Given the description of an element on the screen output the (x, y) to click on. 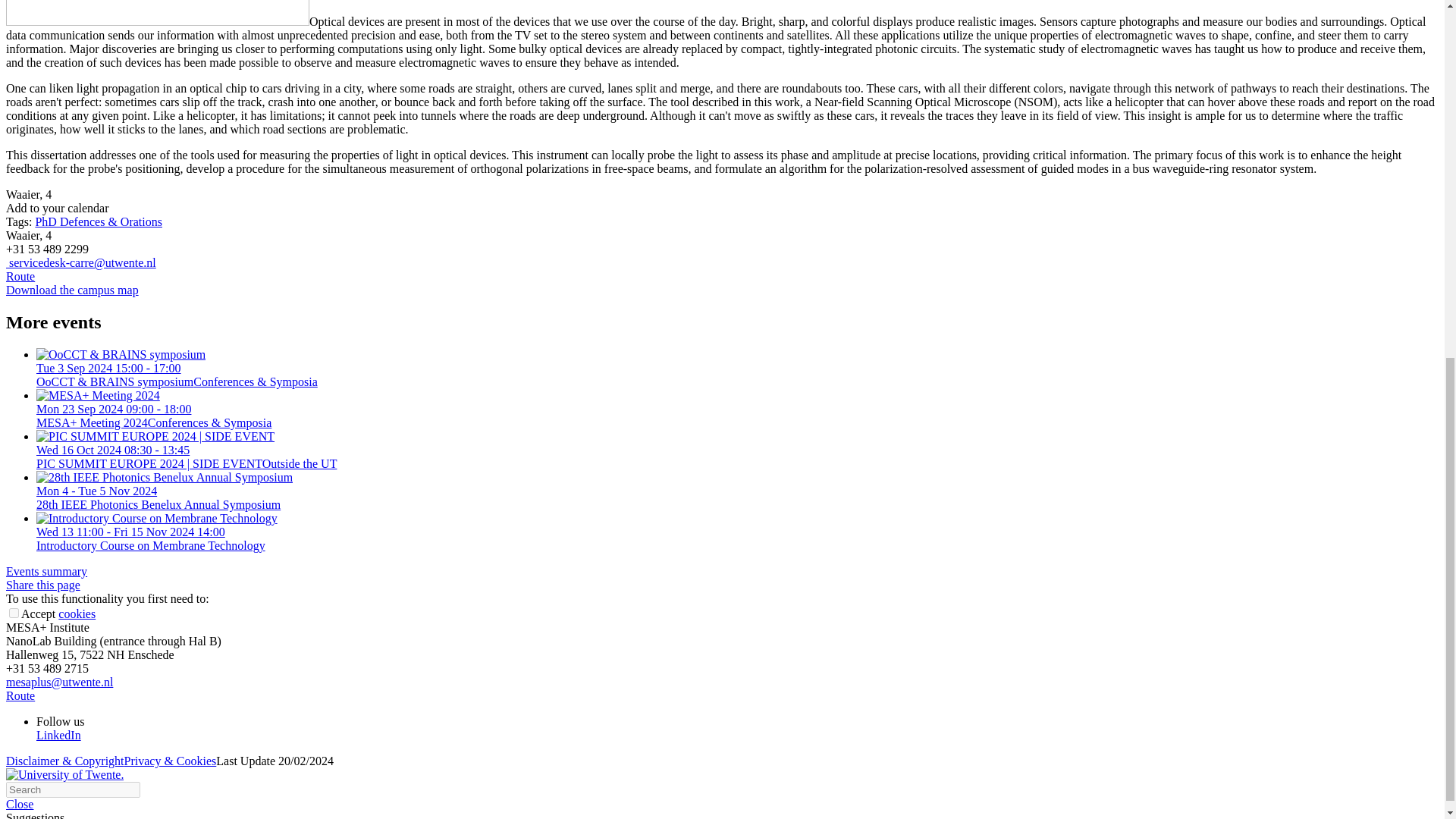
Close (19, 803)
LinkedIn (58, 735)
cookies (77, 613)
Events summary (46, 571)
Route (19, 695)
on (13, 613)
Share this page (42, 584)
